Given the description of an element on the screen output the (x, y) to click on. 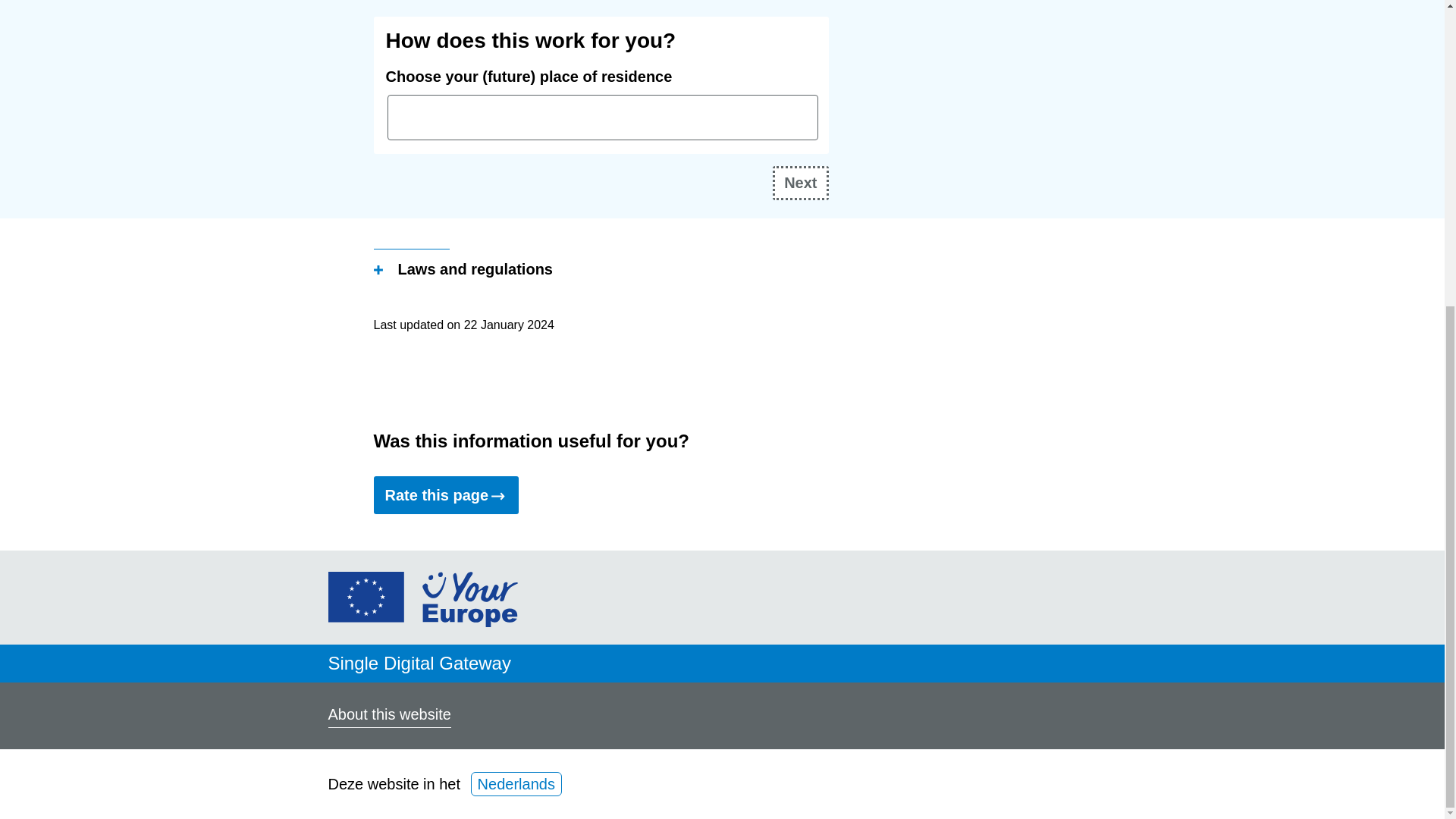
Laws and regulations (461, 270)
Next (800, 182)
Go to the European Union's Your Europe portal homepage (421, 621)
About this website (388, 715)
Nederlands (516, 784)
Rate this page (445, 494)
